Given the description of an element on the screen output the (x, y) to click on. 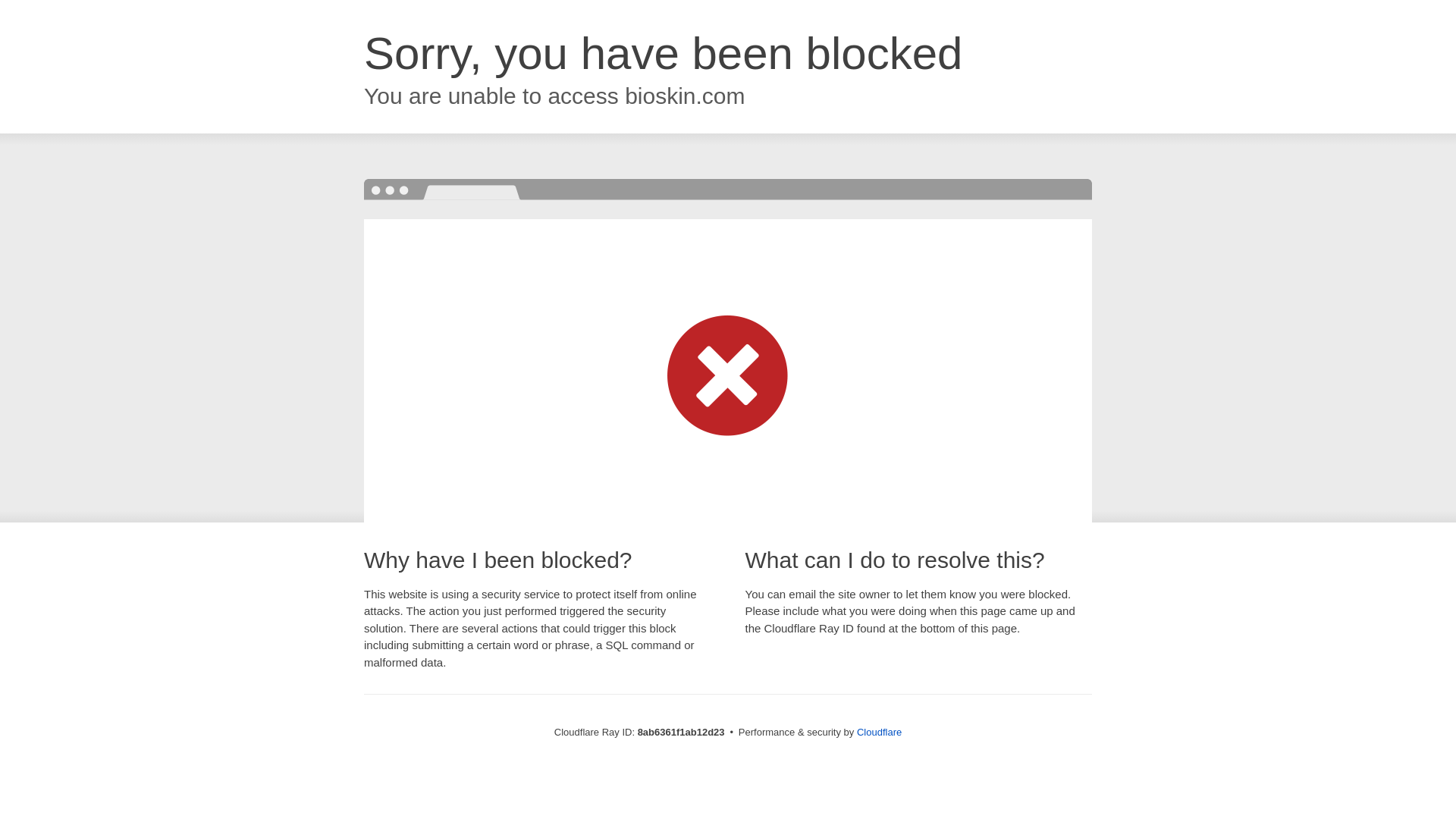
Cloudflare (879, 731)
